Given the description of an element on the screen output the (x, y) to click on. 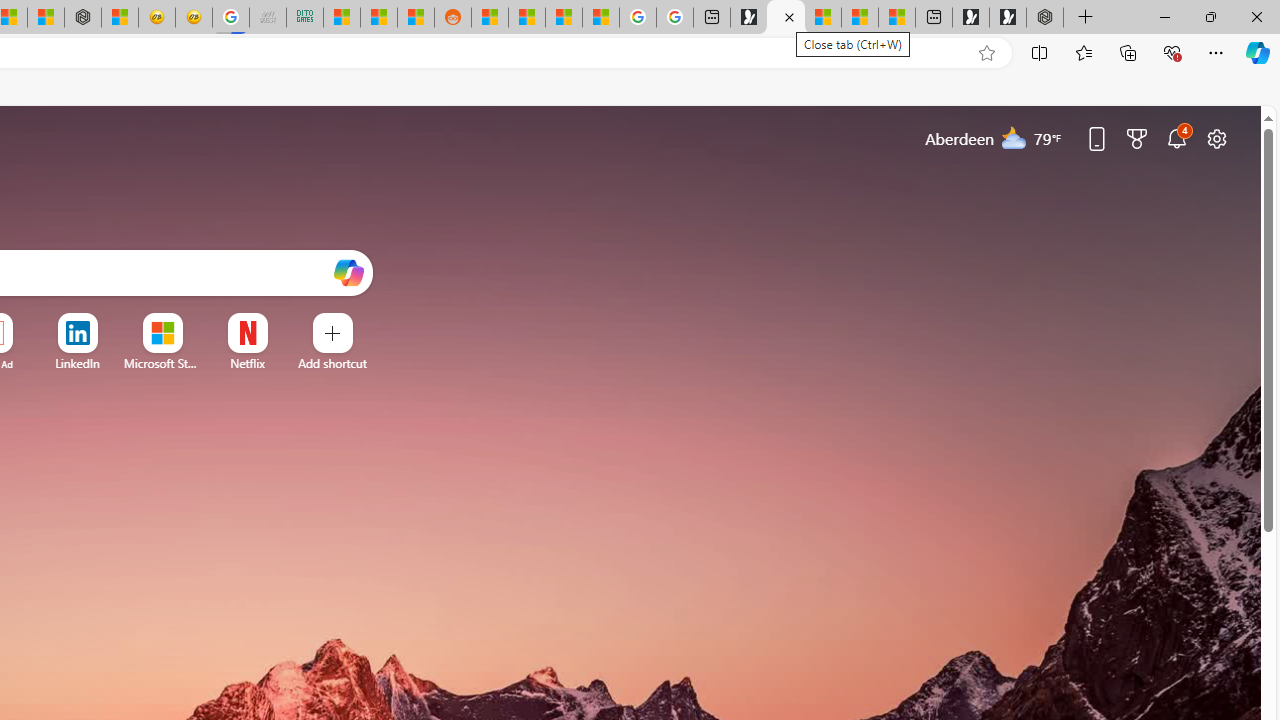
Netflix (247, 363)
LinkedIn (77, 363)
